Given the description of an element on the screen output the (x, y) to click on. 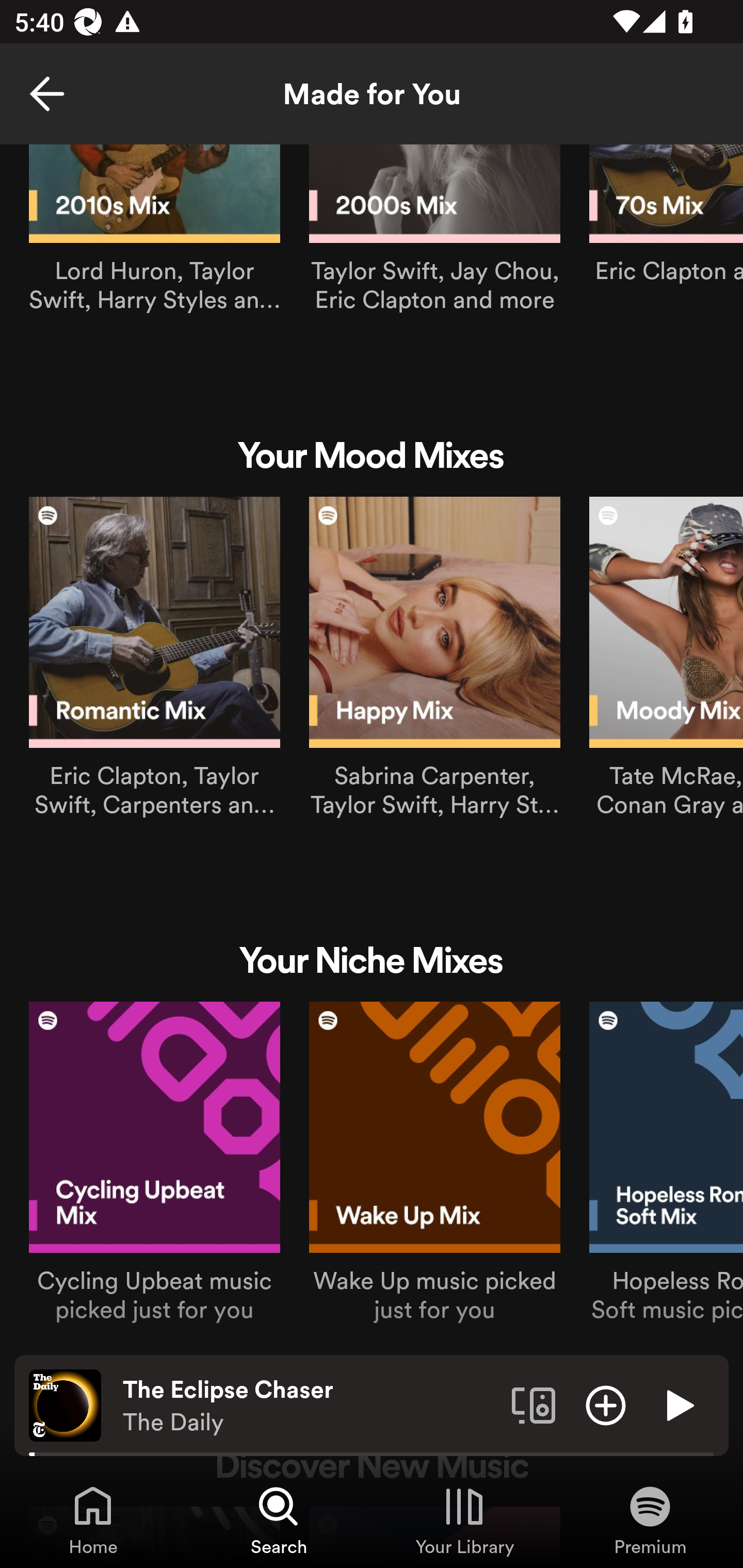
Back (46, 93)
The Eclipse Chaser The Daily (309, 1405)
The cover art of the currently playing track (64, 1404)
Connect to a device. Opens the devices menu (533, 1404)
Add item (605, 1404)
Play (677, 1404)
Home, Tab 1 of 4 Home Home (92, 1519)
Search, Tab 2 of 4 Search Search (278, 1519)
Your Library, Tab 3 of 4 Your Library Your Library (464, 1519)
Premium, Tab 4 of 4 Premium Premium (650, 1519)
